Given the description of an element on the screen output the (x, y) to click on. 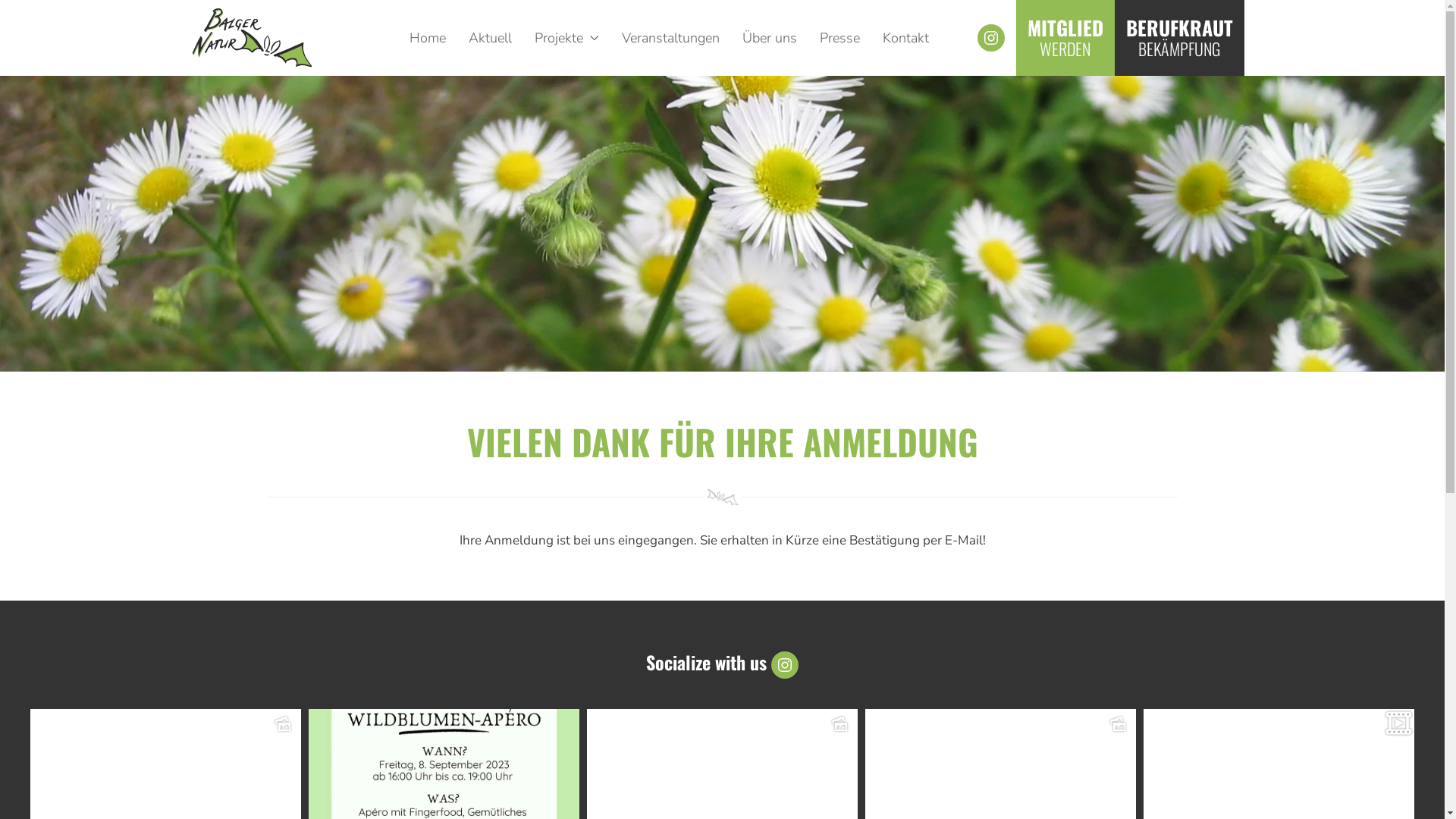
Projekte Element type: text (566, 37)
MITGLIED
WERDEN Element type: text (1064, 37)
Home Element type: text (427, 37)
Veranstaltungen Element type: text (670, 37)
Kontakt Element type: text (905, 37)
Presse Element type: text (839, 37)
Aktuell Element type: text (489, 37)
